Given the description of an element on the screen output the (x, y) to click on. 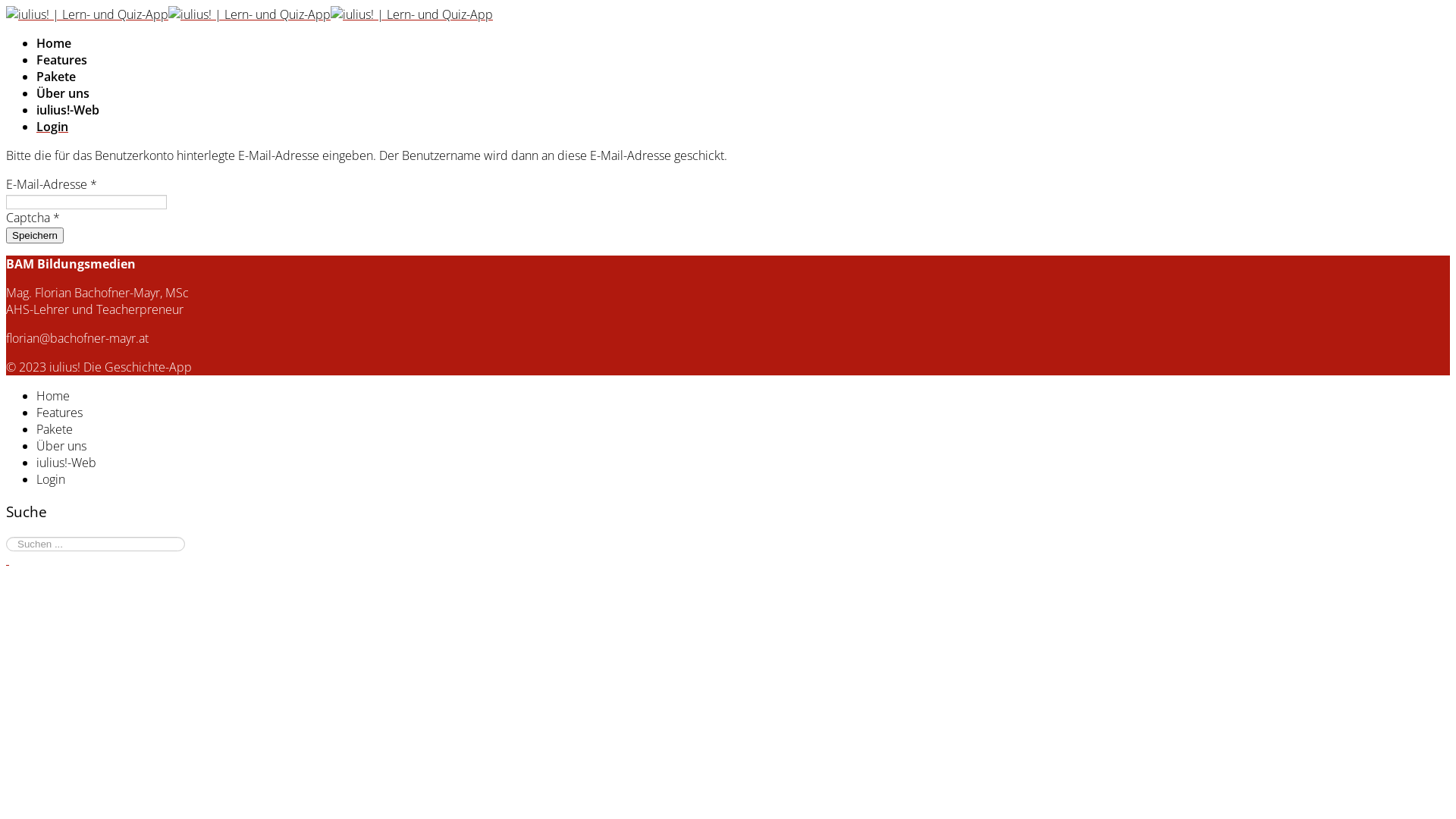
Home Element type: text (53, 42)
  Element type: text (7, 559)
Login Element type: text (50, 478)
Login Element type: text (52, 126)
Pakete Element type: text (55, 76)
Features Element type: text (59, 412)
Home Element type: text (52, 395)
Features Element type: text (61, 59)
florian@bachofner-mayr.at Element type: text (77, 337)
Speichern Element type: text (34, 235)
iulius!-Web Element type: text (66, 462)
Pakete Element type: text (54, 428)
iulius!-Web Element type: text (67, 109)
